Given the description of an element on the screen output the (x, y) to click on. 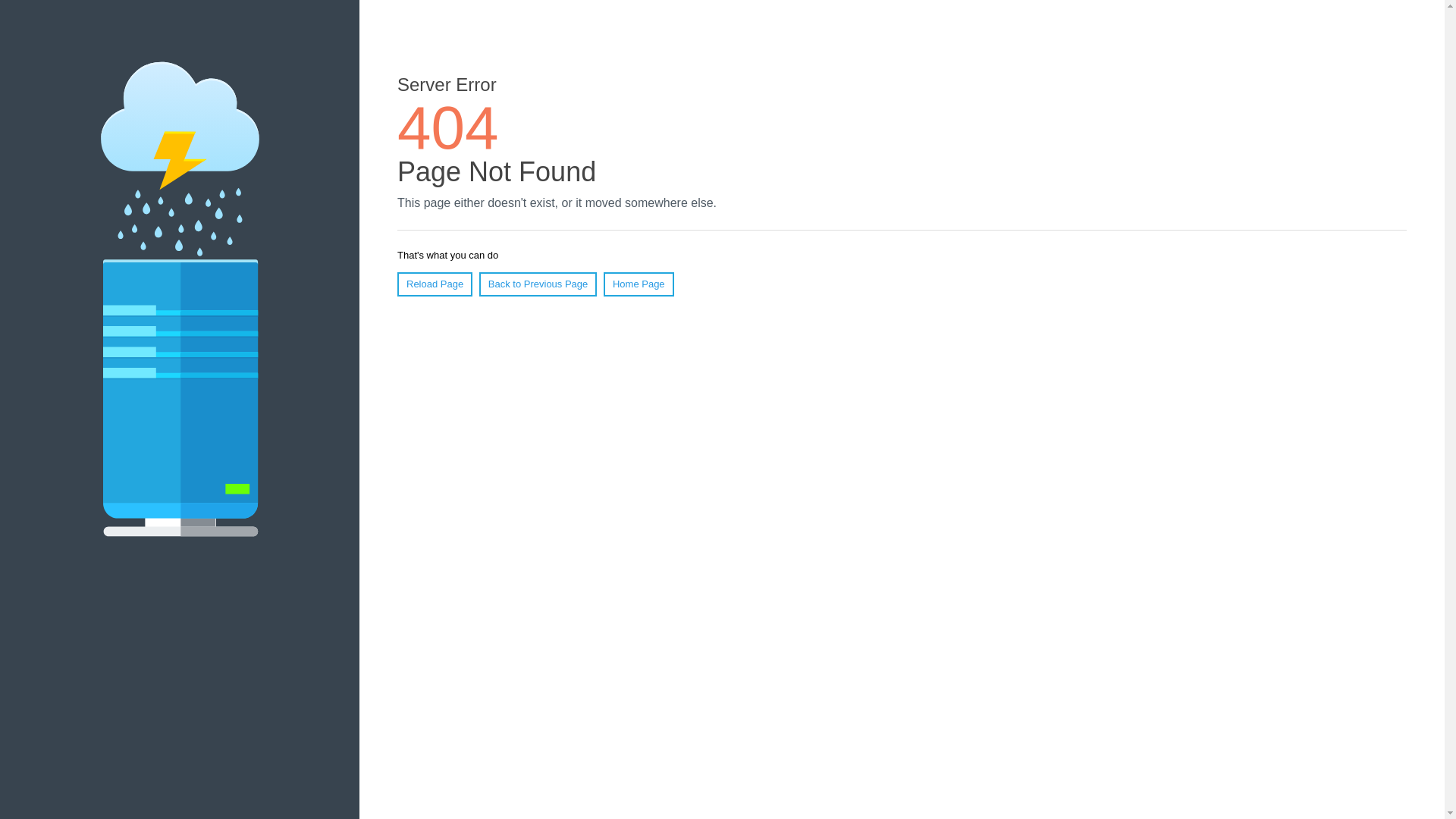
Home Page (639, 283)
Reload Page (434, 283)
Back to Previous Page (537, 283)
